Given the description of an element on the screen output the (x, y) to click on. 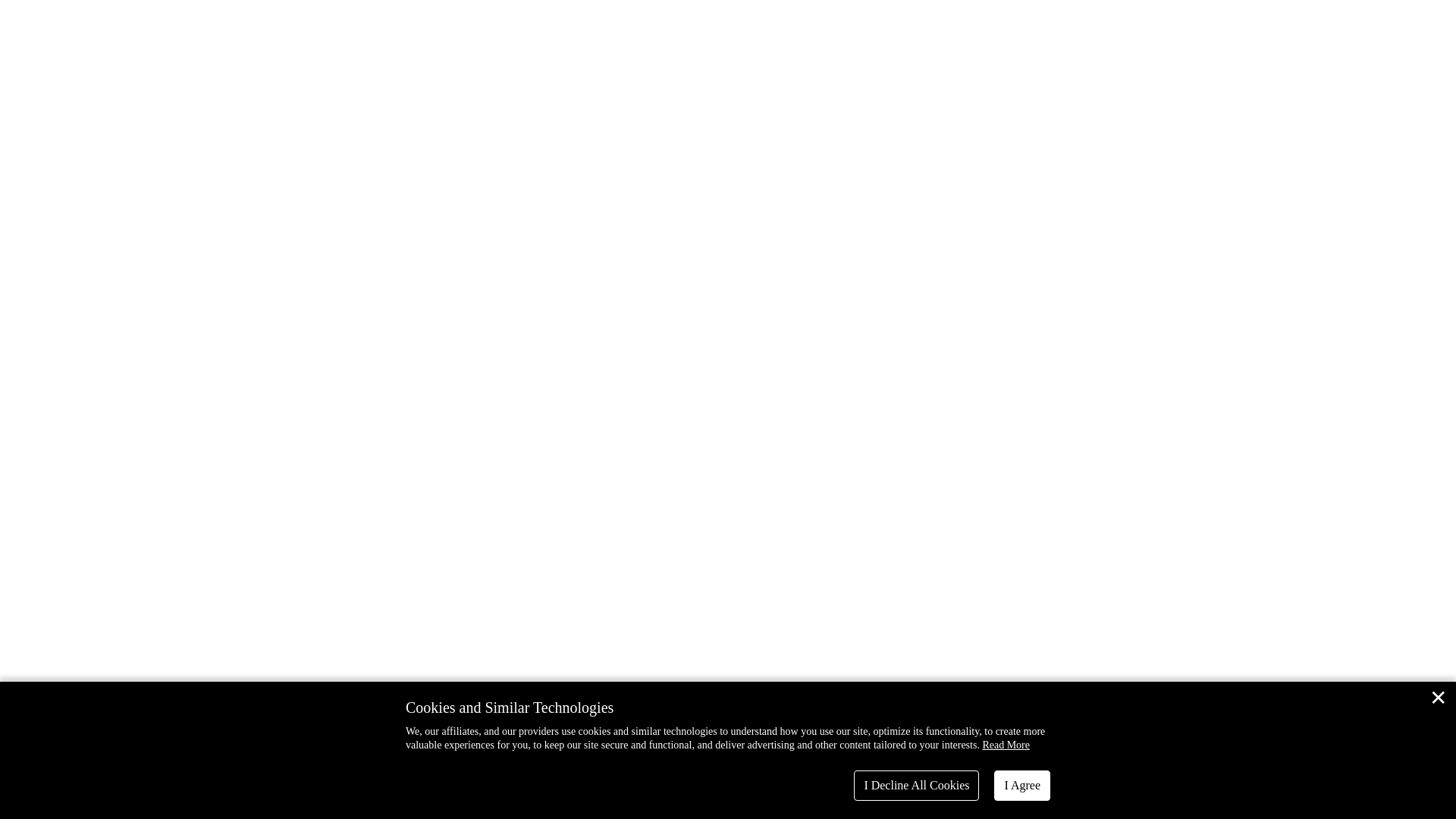
HOMEPAGE (727, 255)
